Given the description of an element on the screen output the (x, y) to click on. 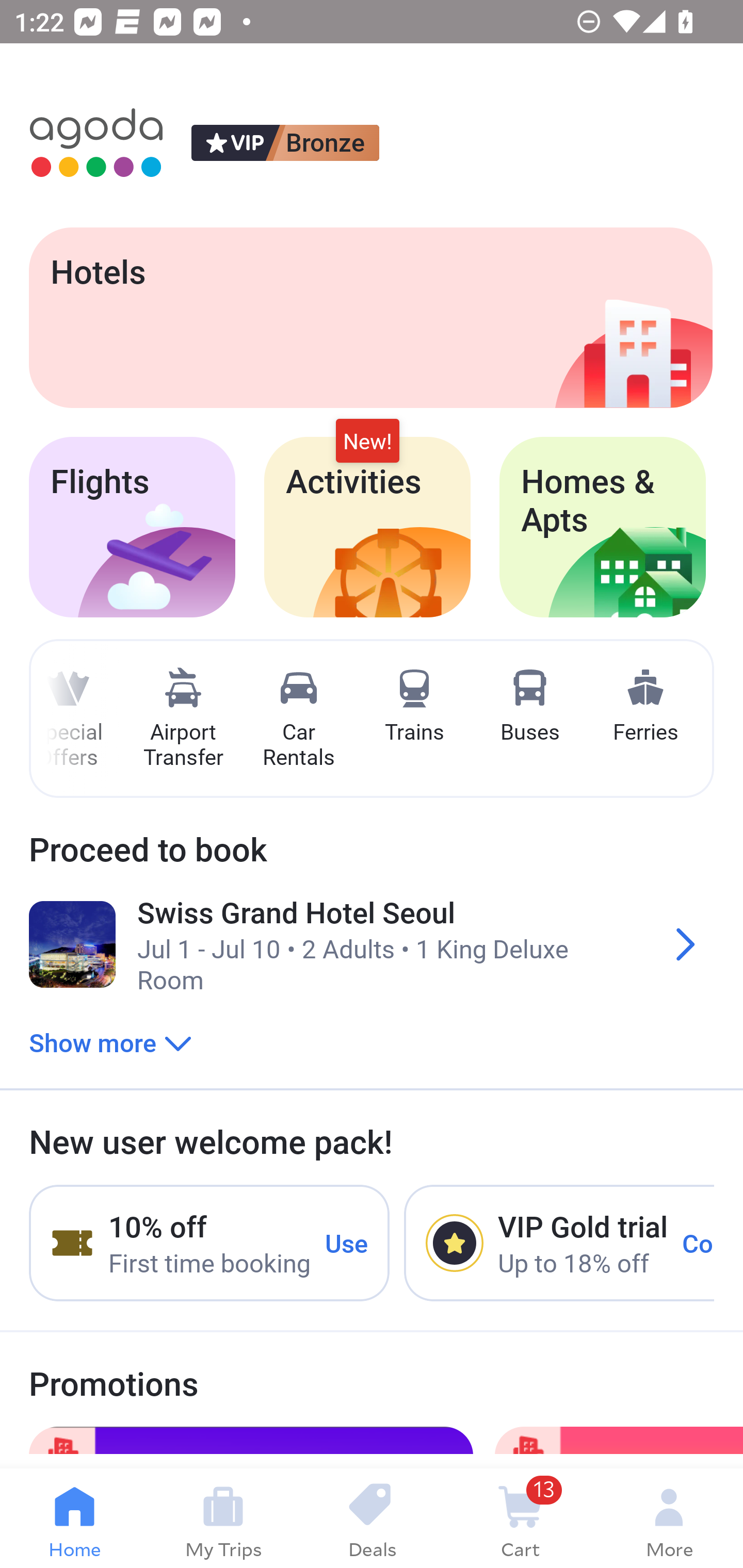
Hotels (370, 317)
New! (367, 441)
Flights (131, 527)
Activities (367, 527)
Homes & Apts (602, 527)
Trains (414, 706)
Buses (529, 706)
Ferries (645, 706)
Airport Transfer (183, 718)
Car Rentals (298, 718)
Show more (110, 1041)
Use (346, 1242)
Home (74, 1518)
My Trips (222, 1518)
Deals (371, 1518)
13 Cart (519, 1518)
More (668, 1518)
